Given the description of an element on the screen output the (x, y) to click on. 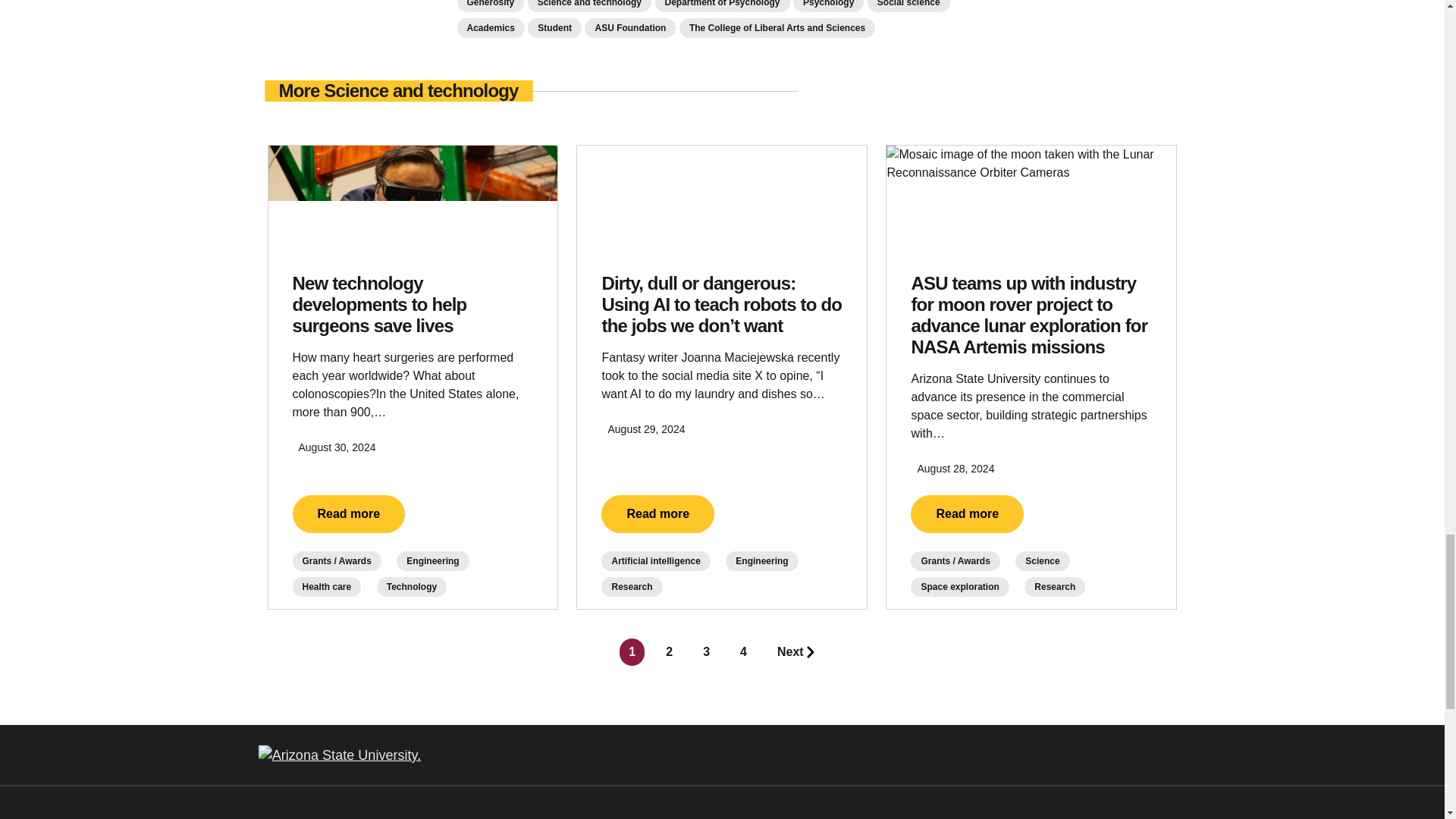
Generosity (490, 6)
The College of Liberal Arts and Sciences (777, 27)
Artificial intelligence (655, 560)
Health care (326, 587)
Technology (411, 587)
Go to page 2 (668, 651)
Go to page 4 (742, 651)
ASU Foundation (630, 27)
Research (631, 587)
Department of Psychology (722, 6)
